Given the description of an element on the screen output the (x, y) to click on. 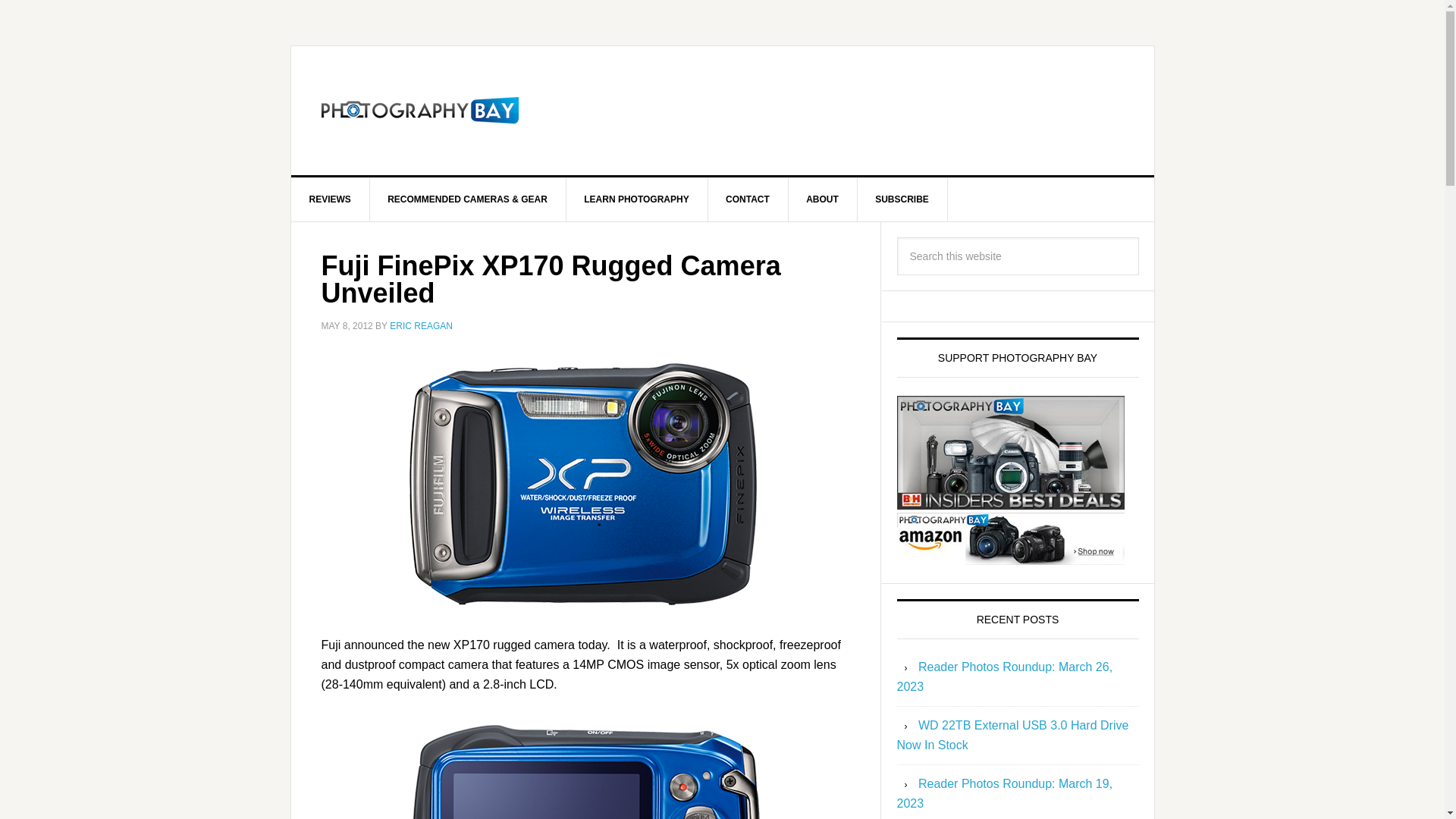
Reader Photos Roundup: March 19, 2023 (1004, 793)
SUBSCRIBE (902, 199)
ERIC REAGAN (421, 326)
CONTACT (748, 199)
Fuji XP170 Back (585, 766)
WD 22TB External USB 3.0 Hard Drive Now In Stock (1012, 735)
RECENT POSTS (1017, 618)
PHOTOGRAPHY BAY (419, 110)
REVIEWS (330, 199)
